Given the description of an element on the screen output the (x, y) to click on. 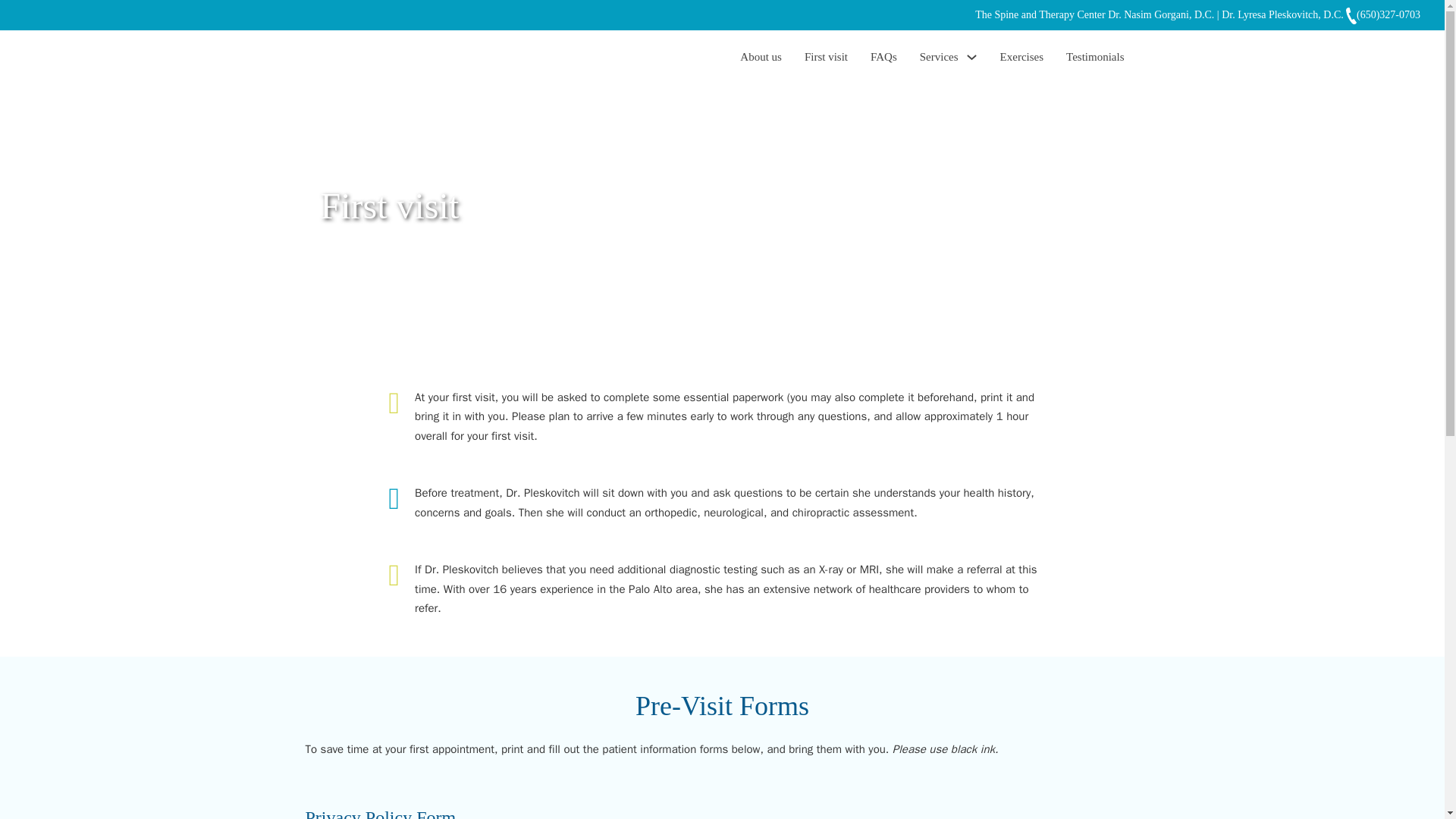
First visit (826, 57)
FAQs (883, 57)
Testimonials (1094, 57)
Services (939, 57)
About us (760, 57)
Exercises (1021, 57)
